Given the description of an element on the screen output the (x, y) to click on. 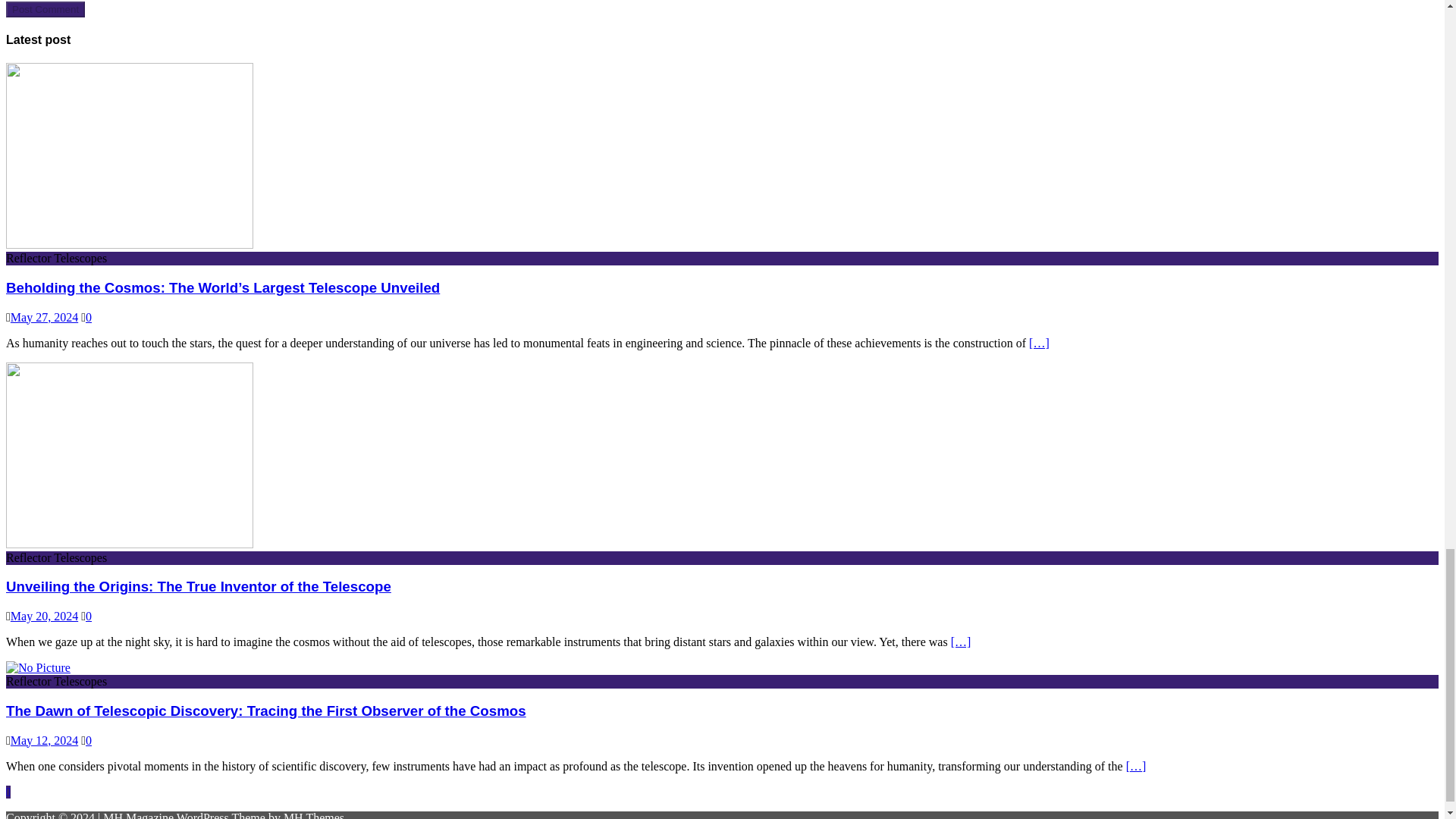
May 27, 2024 (44, 317)
Post Comment (44, 9)
May 20, 2024 (44, 615)
Unveiling the Origins: The True Inventor of the Telescope (198, 586)
Post Comment (44, 9)
